Given the description of an element on the screen output the (x, y) to click on. 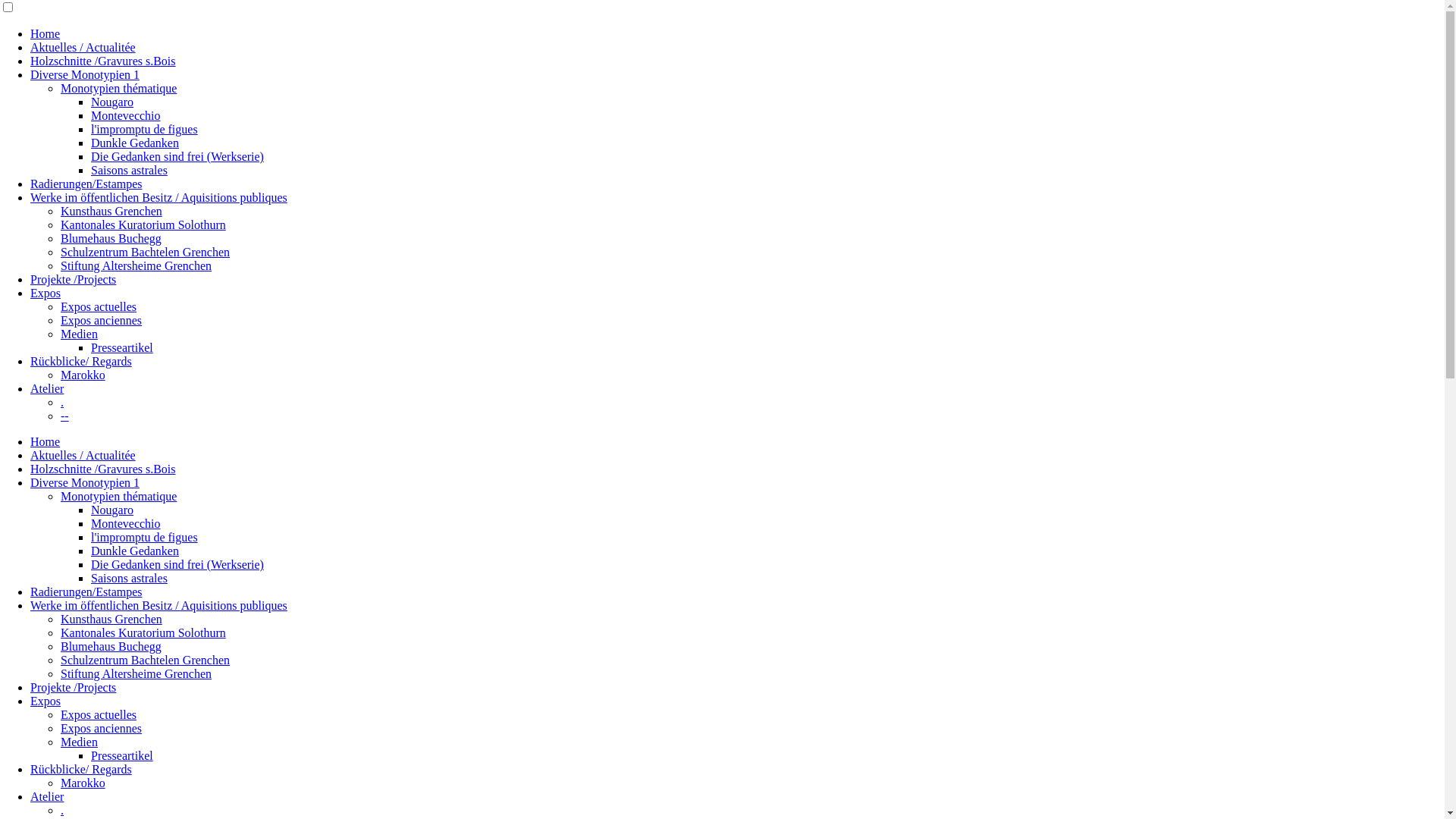
Montevecchio Element type: text (125, 115)
. Element type: text (61, 809)
Kantonales Kuratorium Solothurn Element type: text (142, 224)
Kunsthaus Grenchen Element type: text (111, 618)
Diverse Monotypien 1 Element type: text (84, 74)
Marokko Element type: text (82, 374)
. Element type: text (61, 401)
Saisons astrales Element type: text (129, 577)
Diverse Monotypien 1 Element type: text (84, 482)
Expos actuelles Element type: text (98, 306)
Die Gedanken sind frei (Werkserie) Element type: text (177, 156)
Expos Element type: text (45, 700)
Home Element type: text (44, 441)
Marokko Element type: text (82, 782)
Atelier Element type: text (46, 796)
Die Gedanken sind frei (Werkserie) Element type: text (177, 564)
Projekte /Projects Element type: text (73, 279)
Saisons astrales Element type: text (129, 169)
Dunkle Gedanken Element type: text (134, 142)
Stiftung Altersheime Grenchen Element type: text (135, 673)
Nougaro Element type: text (112, 101)
-- Element type: text (64, 415)
Dunkle Gedanken Element type: text (134, 550)
Expos anciennes Element type: text (100, 727)
Stiftung Altersheime Grenchen Element type: text (135, 265)
Kantonales Kuratorium Solothurn Element type: text (142, 632)
Atelier Element type: text (46, 388)
Nougaro Element type: text (112, 509)
Blumehaus Buchegg Element type: text (110, 646)
l'impromptu de figues Element type: text (144, 536)
Holzschnitte /Gravures s.Bois Element type: text (102, 468)
Schulzentrum Bachtelen Grenchen Element type: text (144, 659)
Medien Element type: text (78, 333)
Medien Element type: text (78, 741)
Expos Element type: text (45, 292)
l'impromptu de figues Element type: text (144, 128)
Expos actuelles Element type: text (98, 714)
Radierungen/Estampes Element type: text (86, 183)
Projekte /Projects Element type: text (73, 686)
Home Element type: text (44, 33)
Presseartikel Element type: text (122, 755)
Schulzentrum Bachtelen Grenchen Element type: text (144, 251)
Montevecchio Element type: text (125, 523)
Kunsthaus Grenchen Element type: text (111, 210)
Radierungen/Estampes Element type: text (86, 591)
Presseartikel Element type: text (122, 347)
Blumehaus Buchegg Element type: text (110, 238)
Holzschnitte /Gravures s.Bois Element type: text (102, 60)
Expos anciennes Element type: text (100, 319)
